Given the description of an element on the screen output the (x, y) to click on. 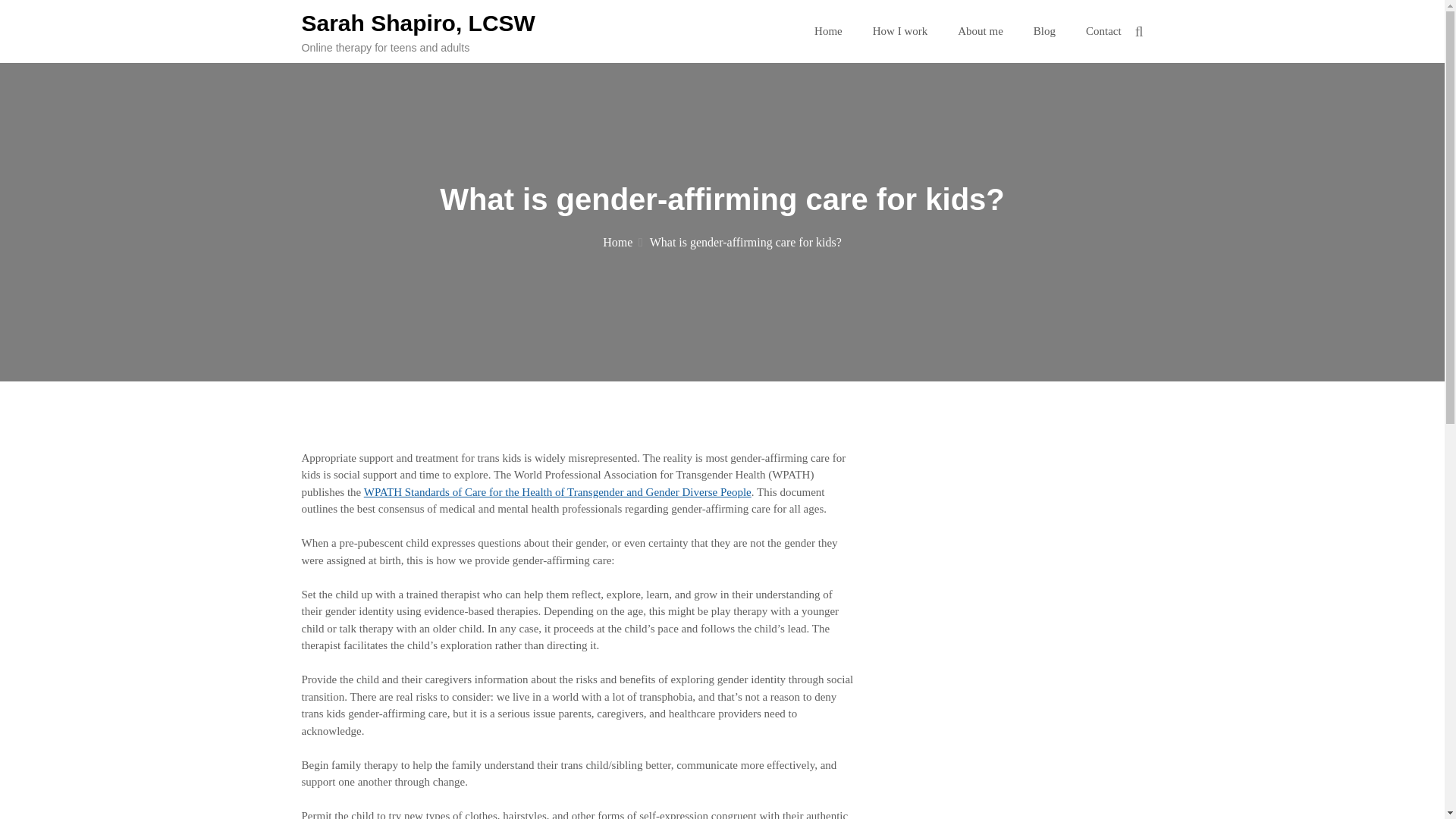
Contact (1103, 30)
Home (828, 30)
About me (980, 30)
Blog (1044, 30)
Sarah Shapiro, LCSW (418, 23)
How I work (900, 30)
Home (622, 241)
